Given the description of an element on the screen output the (x, y) to click on. 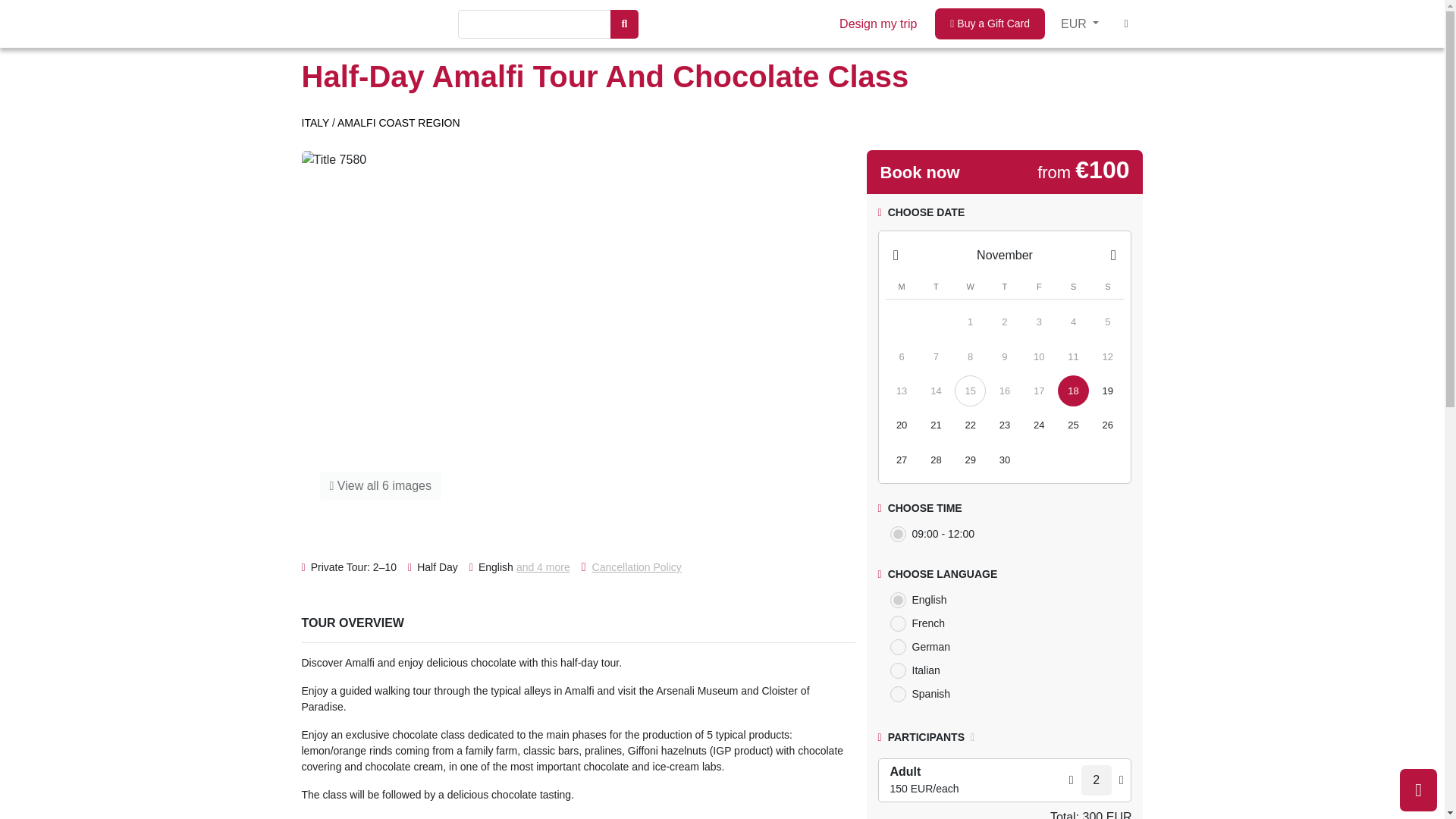
1 (970, 321)
4 (1073, 321)
17 (1039, 390)
fr (897, 623)
Previous month (895, 255)
10 (1039, 356)
9 (1004, 356)
11 (1073, 356)
3 (1039, 321)
14 (935, 390)
